Given the description of an element on the screen output the (x, y) to click on. 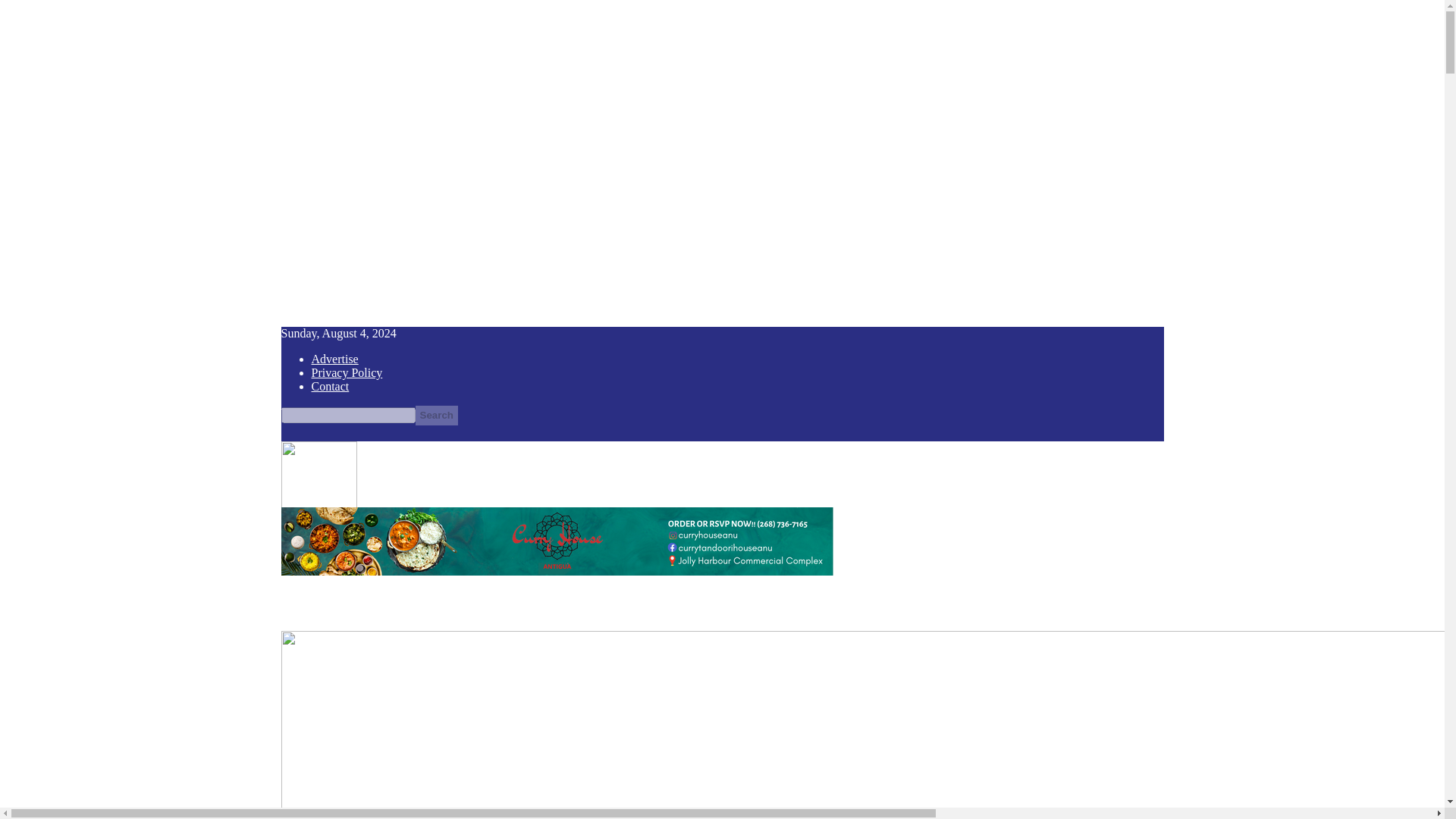
Contact (330, 386)
Search (436, 415)
Search (436, 415)
Antigua News Room (371, 512)
Privacy Policy (346, 372)
Advertise (334, 358)
